Given the description of an element on the screen output the (x, y) to click on. 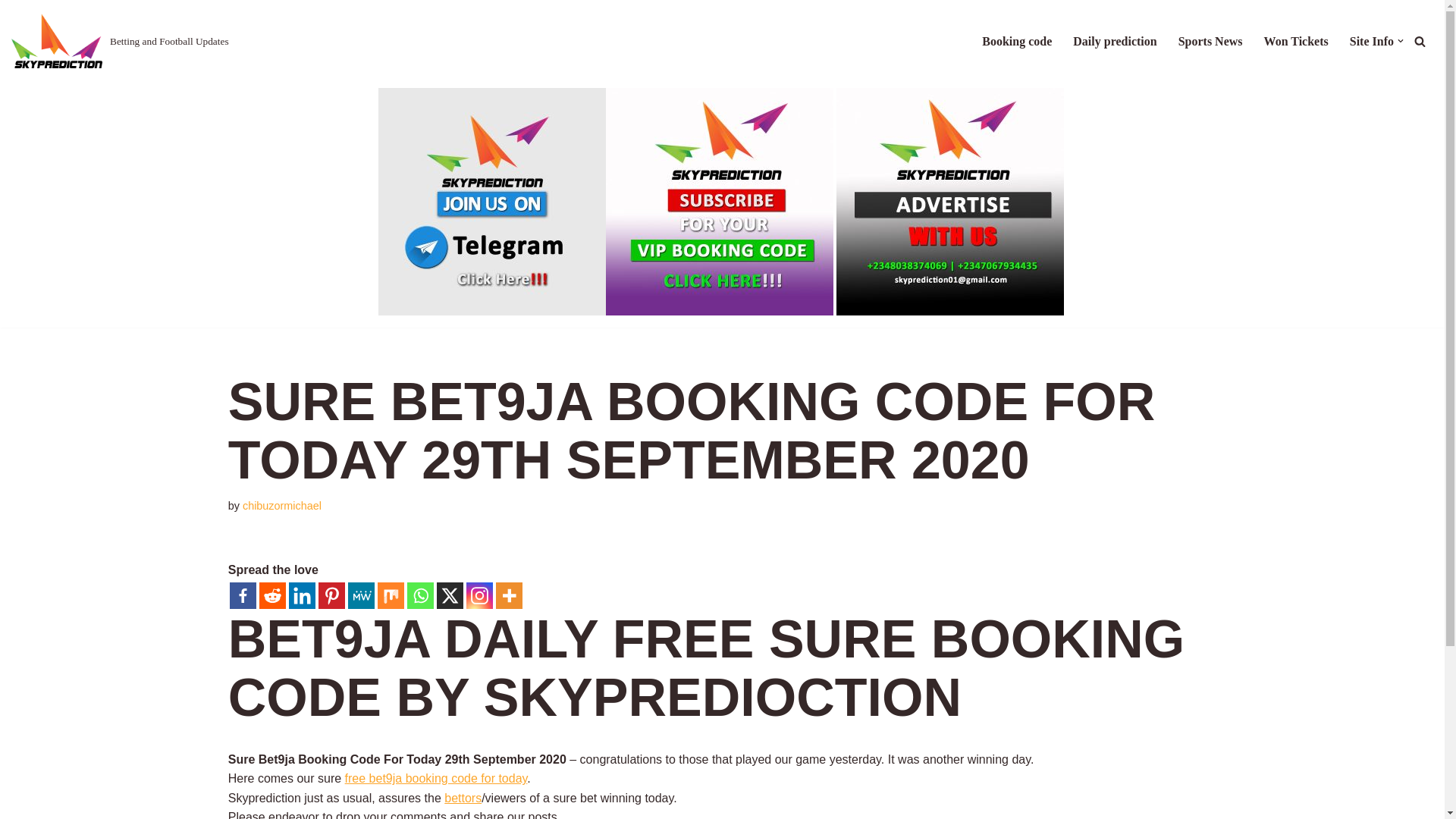
X (449, 595)
Posts by chibuzormichael (282, 505)
Daily prediction (1114, 41)
Reddit (272, 595)
Pinterest (331, 595)
Instagram (479, 595)
Sports News (1210, 41)
Won Tickets (1295, 41)
Linkedin (301, 595)
Mix (390, 595)
Facebook (243, 595)
Skip to content (11, 31)
More (509, 595)
Whatsapp (420, 595)
MeWe (360, 595)
